Given the description of an element on the screen output the (x, y) to click on. 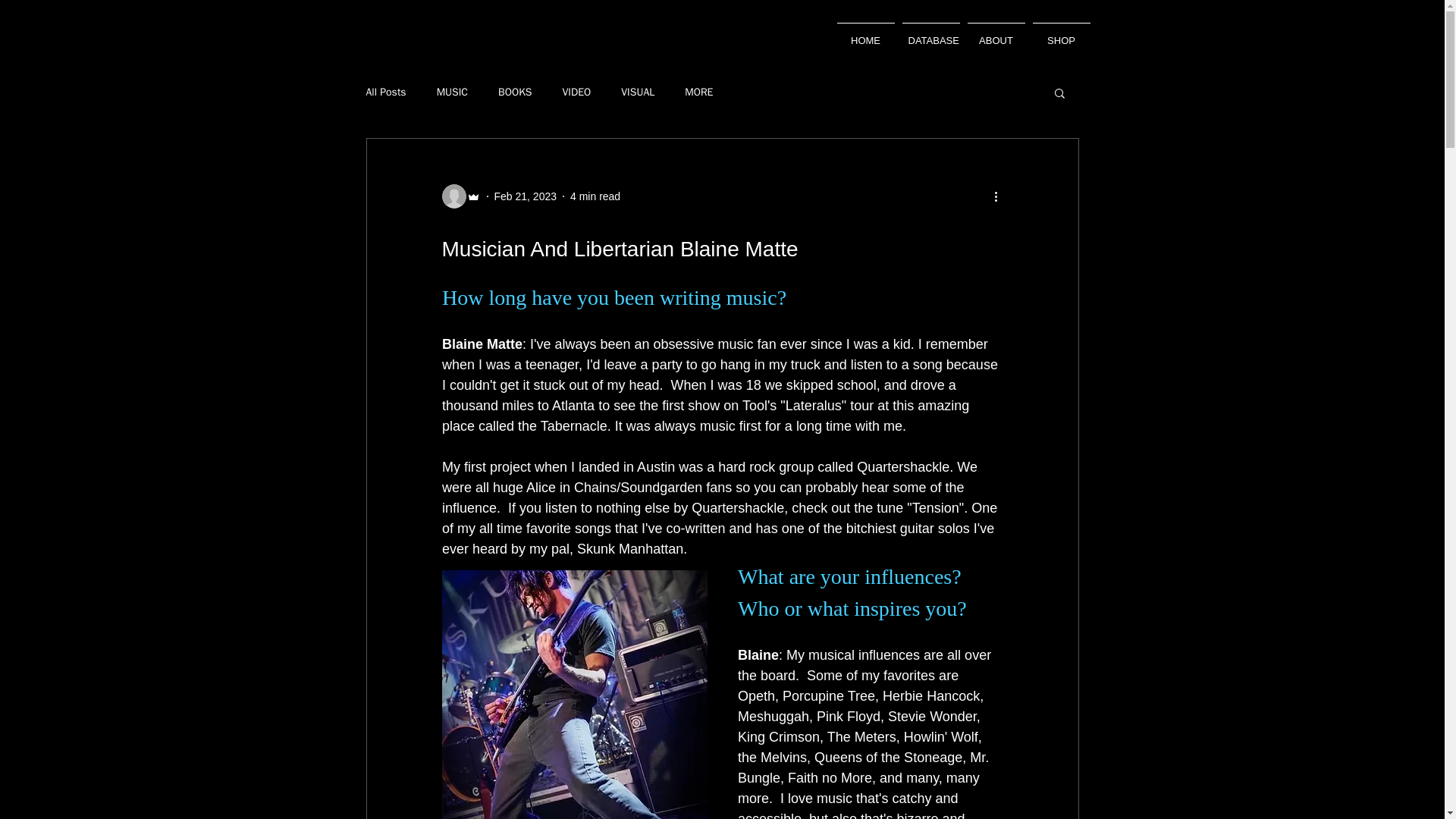
VISUAL (637, 92)
BOOKS (514, 92)
VIDEO (576, 92)
ABOUT (994, 33)
MUSIC (451, 92)
SHOP (1060, 33)
4 min read (595, 195)
Feb 21, 2023 (526, 195)
HOME (865, 33)
DATABASE (930, 33)
